Given the description of an element on the screen output the (x, y) to click on. 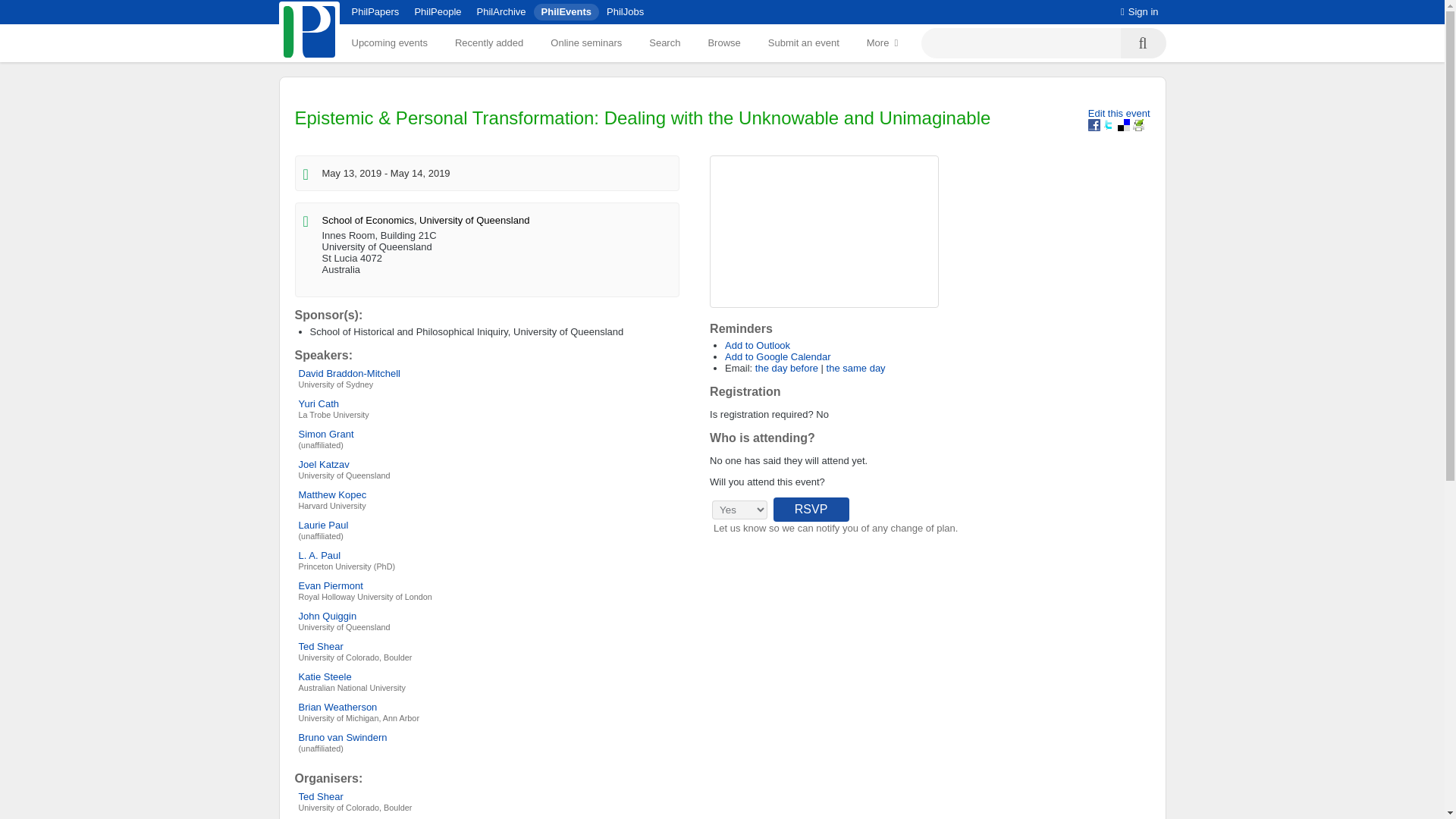
Search (665, 42)
PhilPeople (437, 11)
Simon Grant (325, 433)
David Braddon-Mitchell (349, 373)
PhilArchive (501, 11)
Yuri Cath (318, 403)
Sign in (1139, 11)
PhilJobs (625, 11)
Print Friendly (1138, 124)
Edit this event (1118, 112)
Recently added (488, 42)
Upcoming events (389, 42)
Submit an event (803, 42)
Twitter (1108, 124)
Delicious (1123, 124)
